Given the description of an element on the screen output the (x, y) to click on. 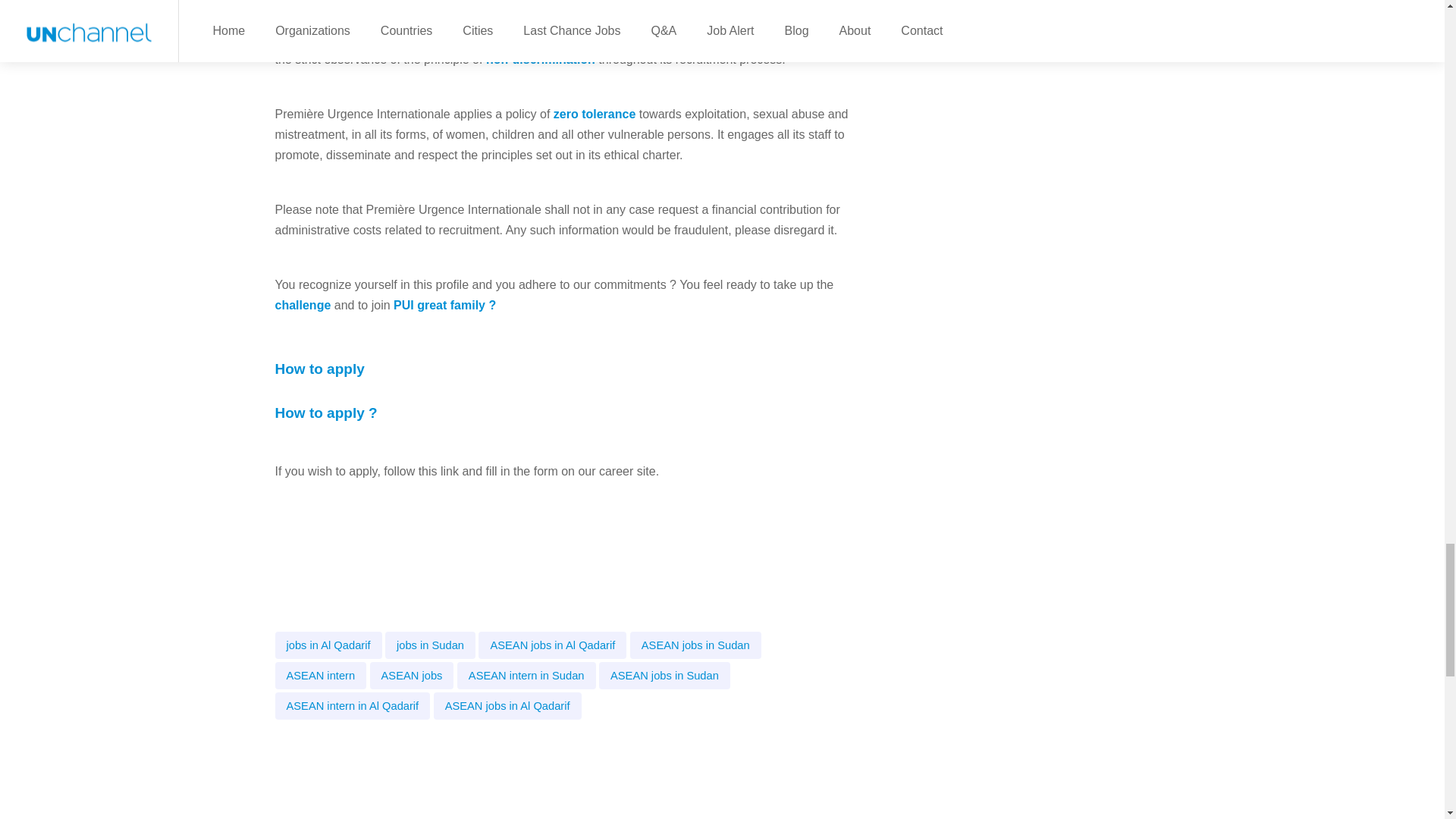
jobs in Al Qadarif (328, 644)
ASEAN intern in Al Qadarif (352, 705)
ASEAN jobs (411, 675)
ASEAN intern (320, 675)
ASEAN jobs in Sudan (664, 675)
ASEAN jobs in Al Qadarif (552, 644)
Humanitarian Action (614, 38)
ASEAN jobs in Sudan (695, 644)
ASEAN jobs in Al Qadarif (506, 705)
ASEAN intern in Sudan (526, 675)
jobs in Sudan (430, 644)
